Given the description of an element on the screen output the (x, y) to click on. 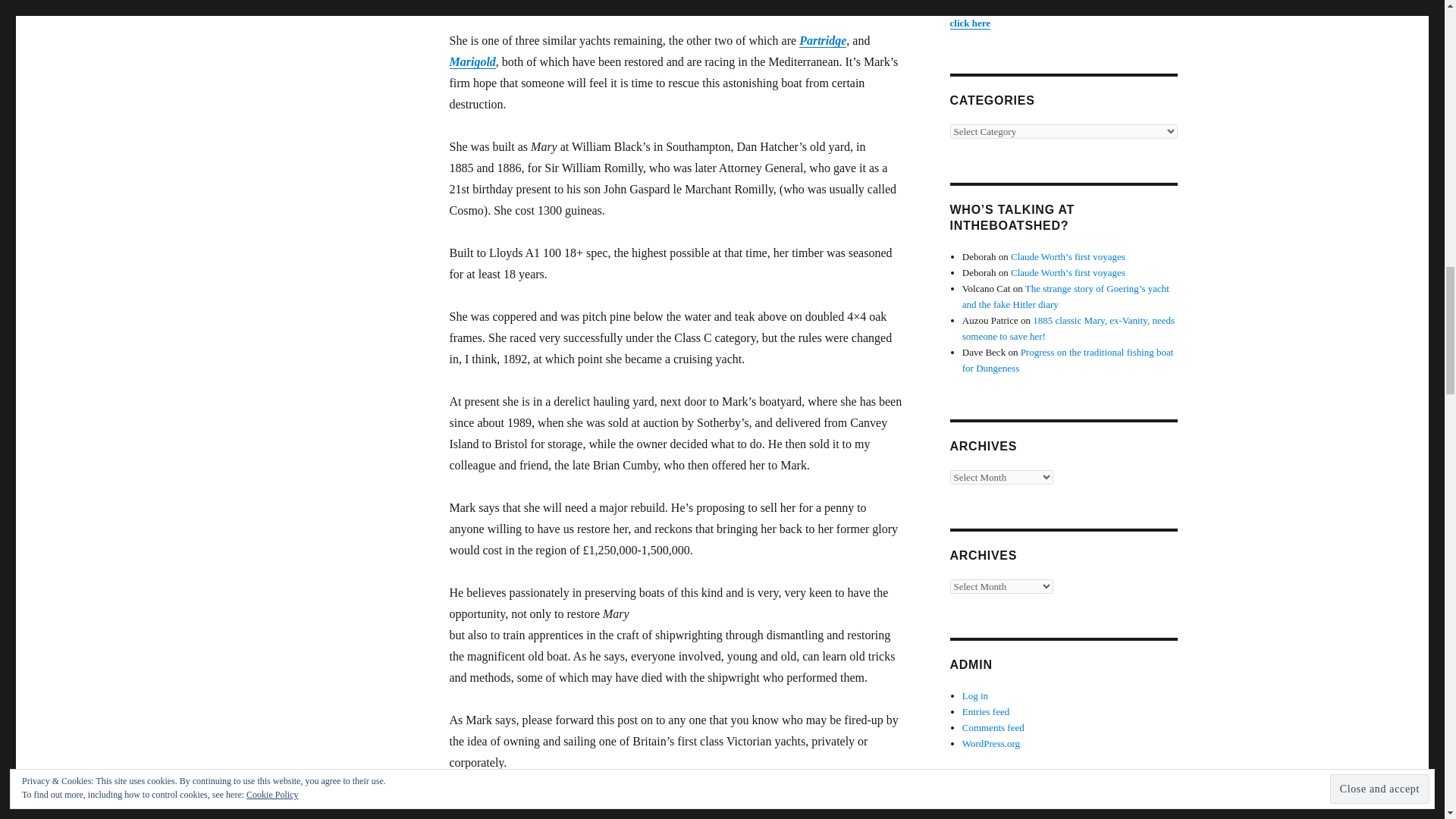
Marigold (471, 61)
Partridge (822, 40)
